Given the description of an element on the screen output the (x, y) to click on. 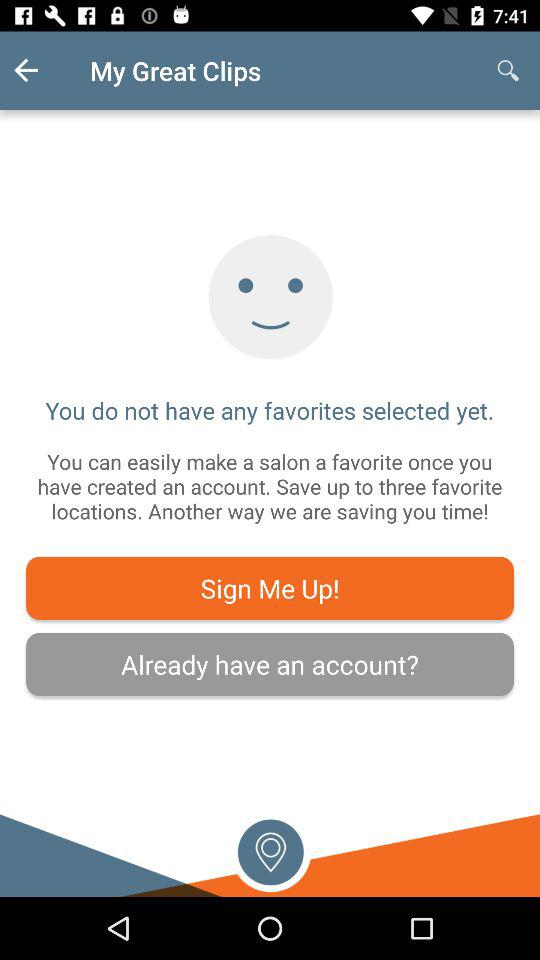
choose the item to the left of the my great clips item (42, 70)
